Given the description of an element on the screen output the (x, y) to click on. 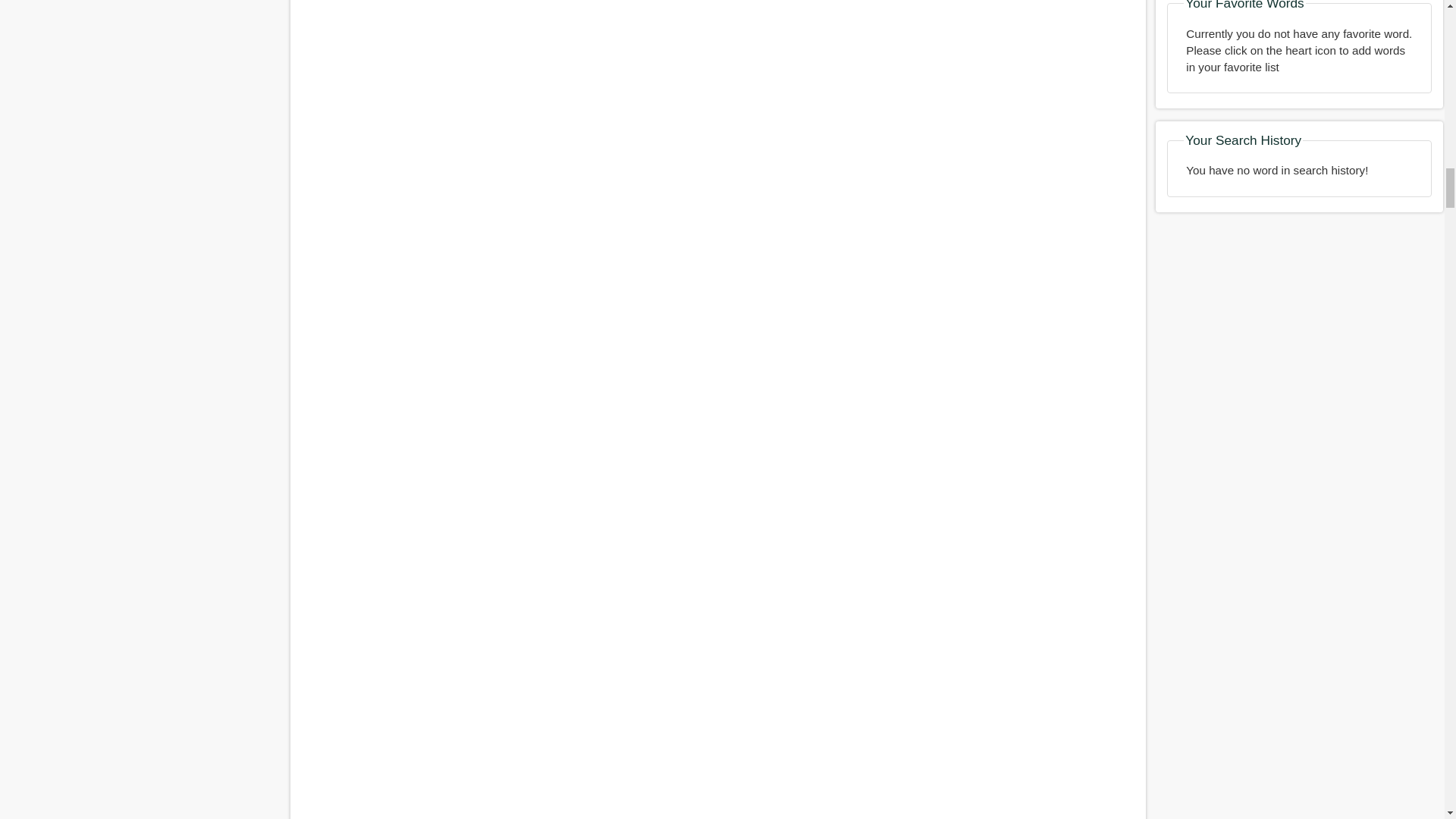
Commonly confused words (717, 760)
